Given the description of an element on the screen output the (x, y) to click on. 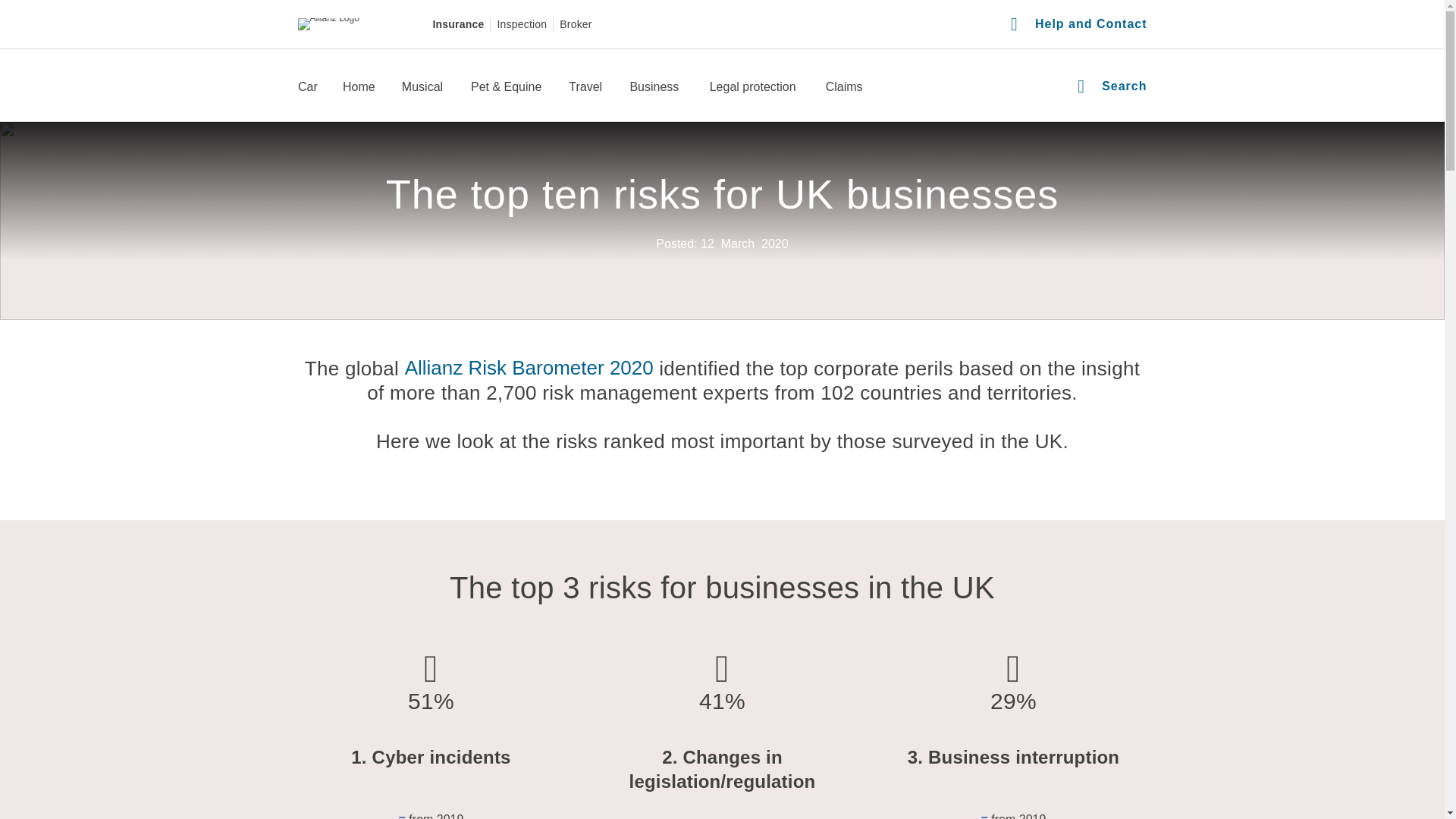
Musical (422, 88)
Car (307, 88)
Broker (575, 24)
Inspection (521, 24)
Insurance (457, 24)
Help and Contact (1078, 24)
Home (358, 88)
